Given the description of an element on the screen output the (x, y) to click on. 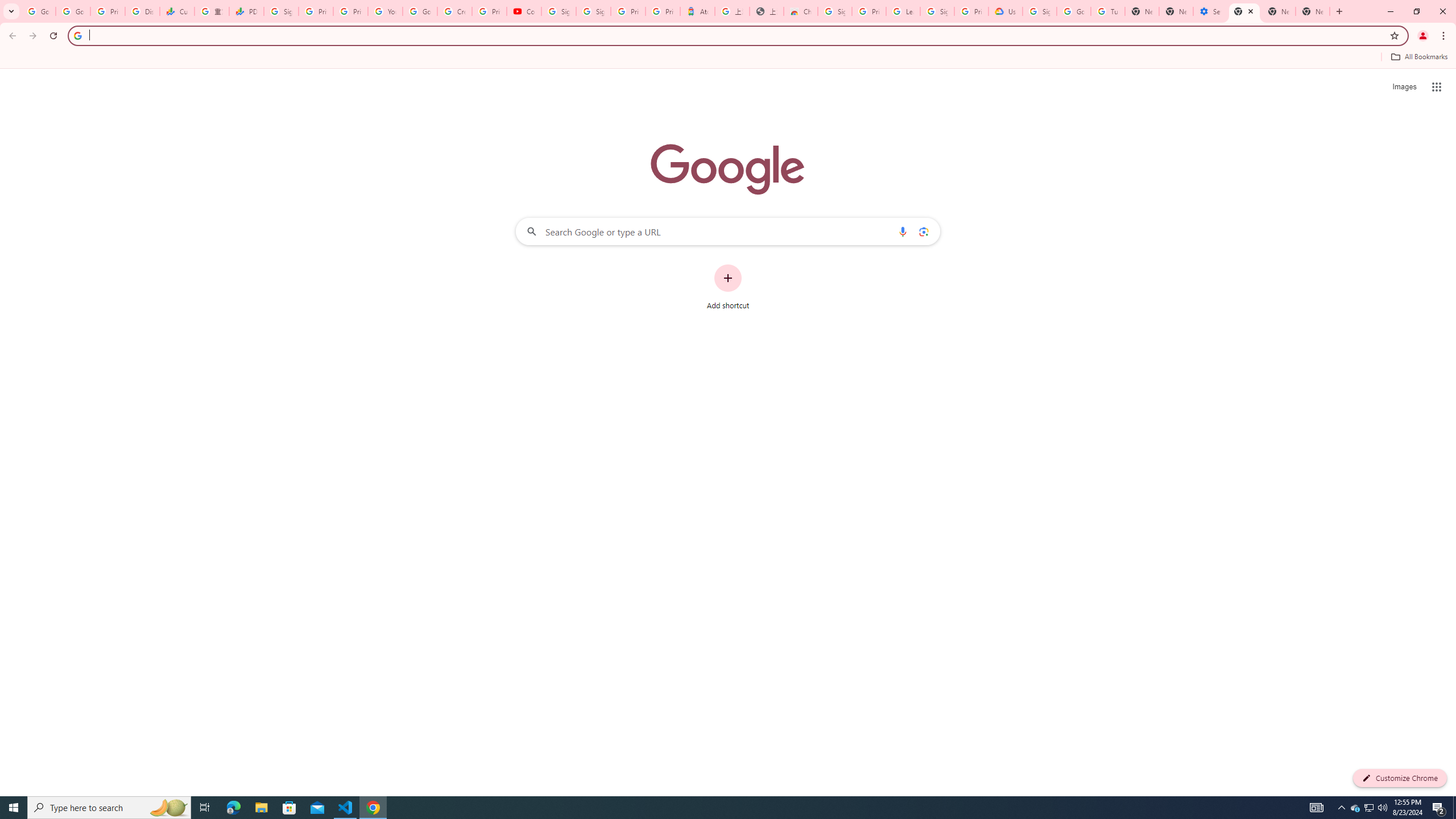
Atour Hotel - Google hotels (697, 11)
New Tab (1312, 11)
Google Account Help (419, 11)
Content Creator Programs & Opportunities - YouTube Creators (524, 11)
Google Workspace Admin Community (38, 11)
Currencies - Google Finance (176, 11)
